Given the description of an element on the screen output the (x, y) to click on. 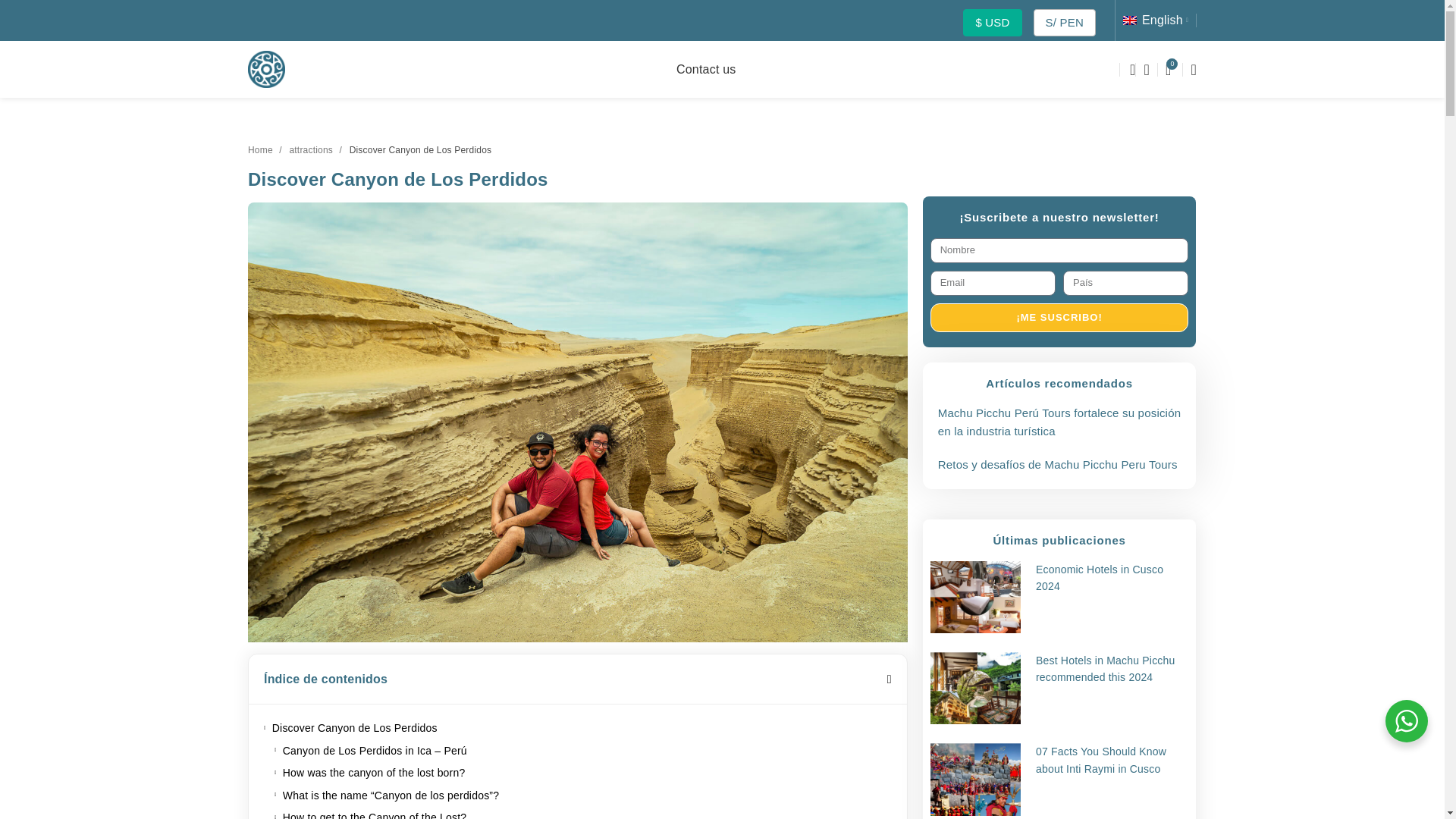
0 (1168, 69)
English (1155, 20)
Search (1127, 69)
Log in (1024, 316)
How to get to the Canyon of the Lost? (373, 814)
How was the canyon of the lost born? (373, 772)
Home (264, 149)
Discover Canyon de Los Perdidos (355, 727)
Contact us (706, 69)
My account (1146, 69)
attractions (315, 149)
Shopping cart (1168, 69)
